Given the description of an element on the screen output the (x, y) to click on. 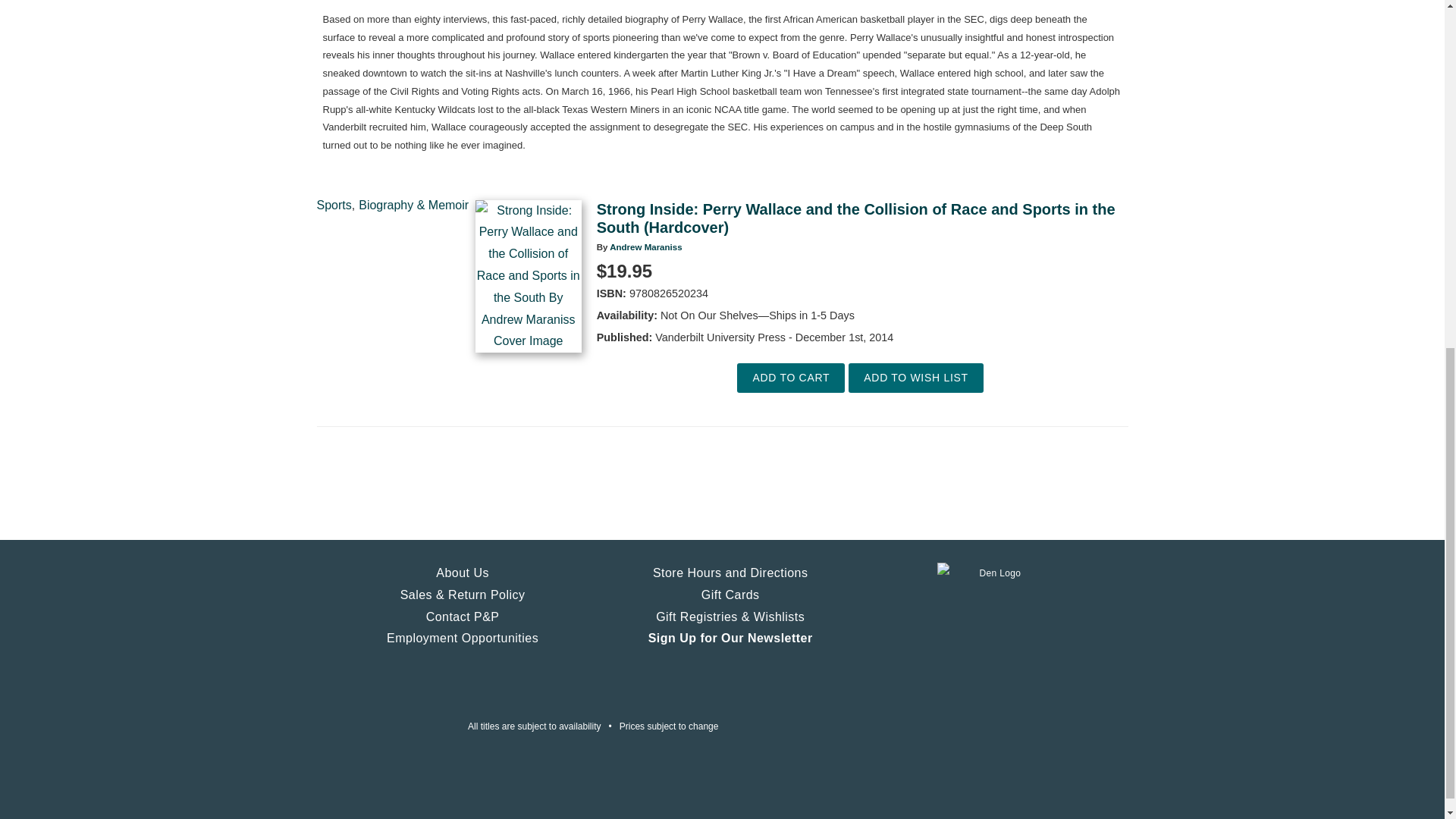
Add to Cart (790, 378)
Add to Wish List (915, 378)
